Given the description of an element on the screen output the (x, y) to click on. 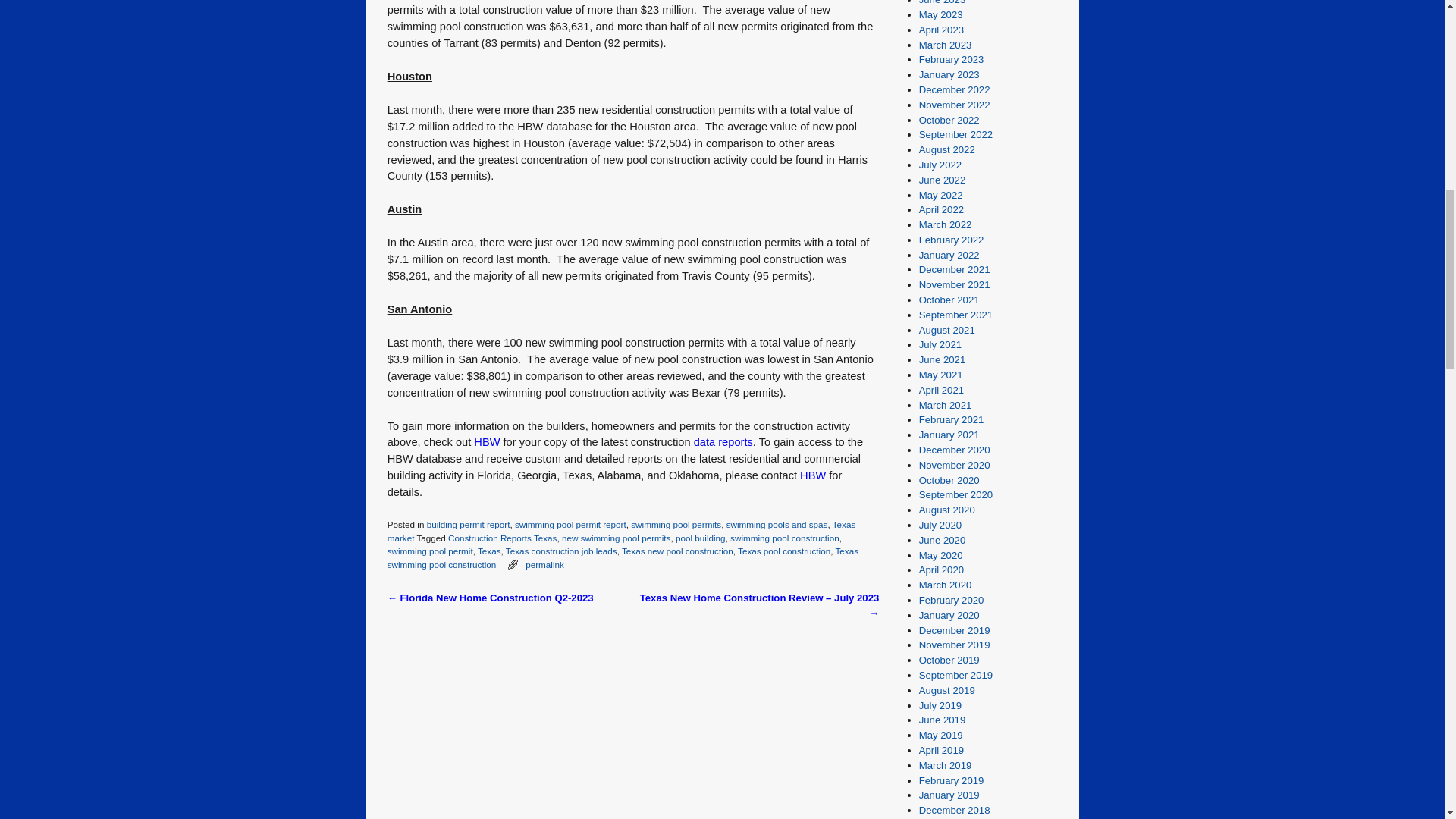
HBW (486, 441)
Texas pool construction (783, 551)
swimming pools and spas (777, 524)
swimming pool construction (785, 537)
Texas swimming pool construction (623, 557)
data reports (723, 441)
swimming pool permit report (570, 524)
HBW (812, 475)
Construction Reports Texas (502, 537)
new swimming pool permits (616, 537)
permalink (544, 564)
Texas (488, 551)
Texas construction job leads (561, 551)
pool building (700, 537)
building permit report (468, 524)
